Given the description of an element on the screen output the (x, y) to click on. 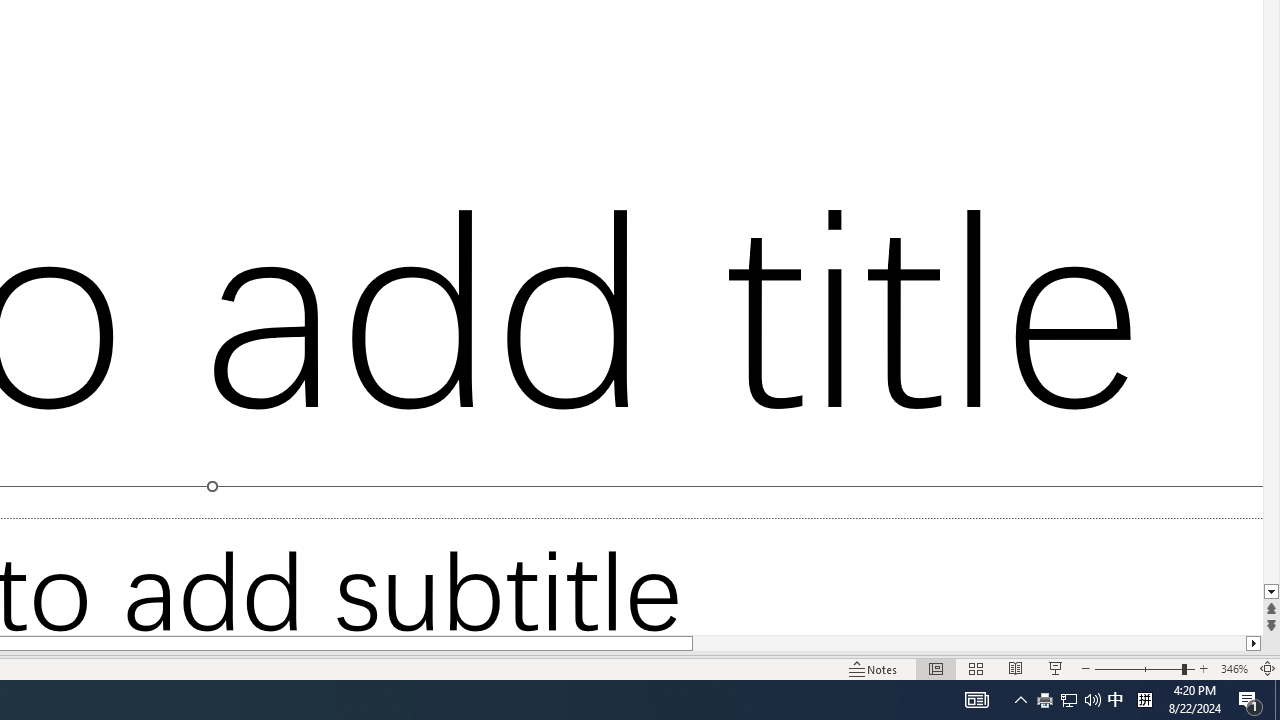
Zoom 346% (1234, 668)
